Given the description of an element on the screen output the (x, y) to click on. 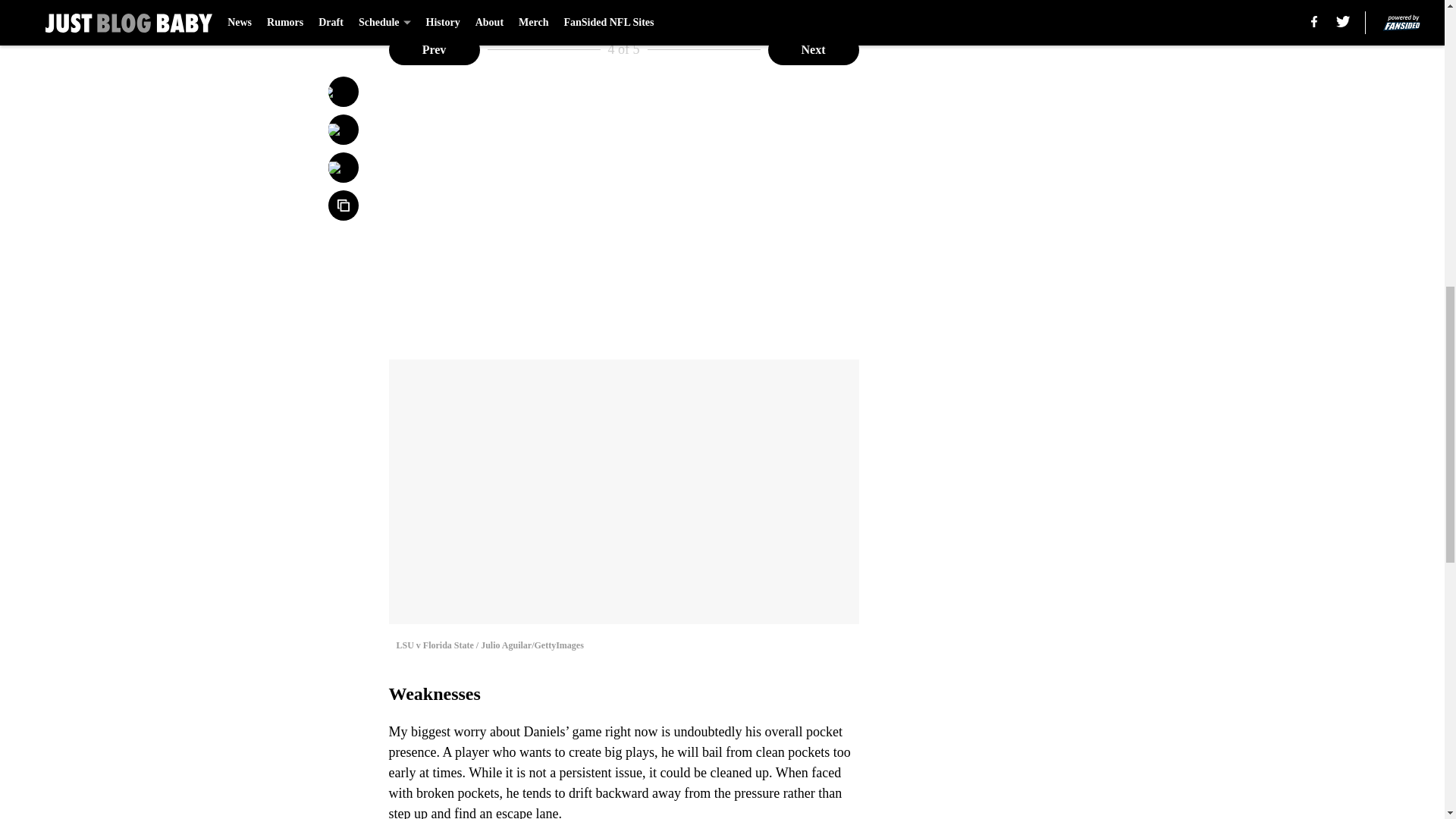
Next (813, 50)
Prev (433, 50)
